Given the description of an element on the screen output the (x, y) to click on. 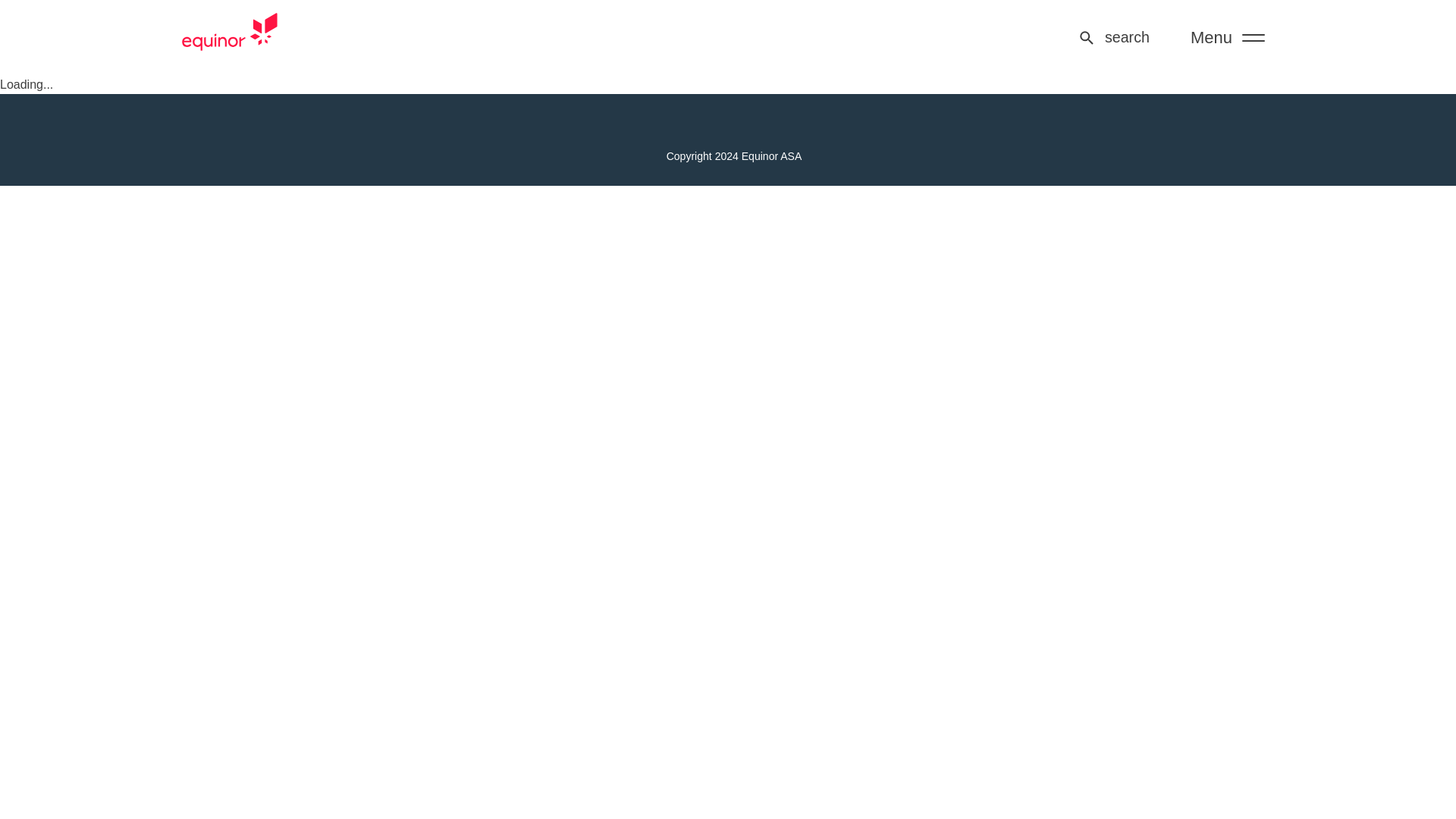
Skip to content (48, 83)
Menu (1227, 37)
search (1113, 37)
